Given the description of an element on the screen output the (x, y) to click on. 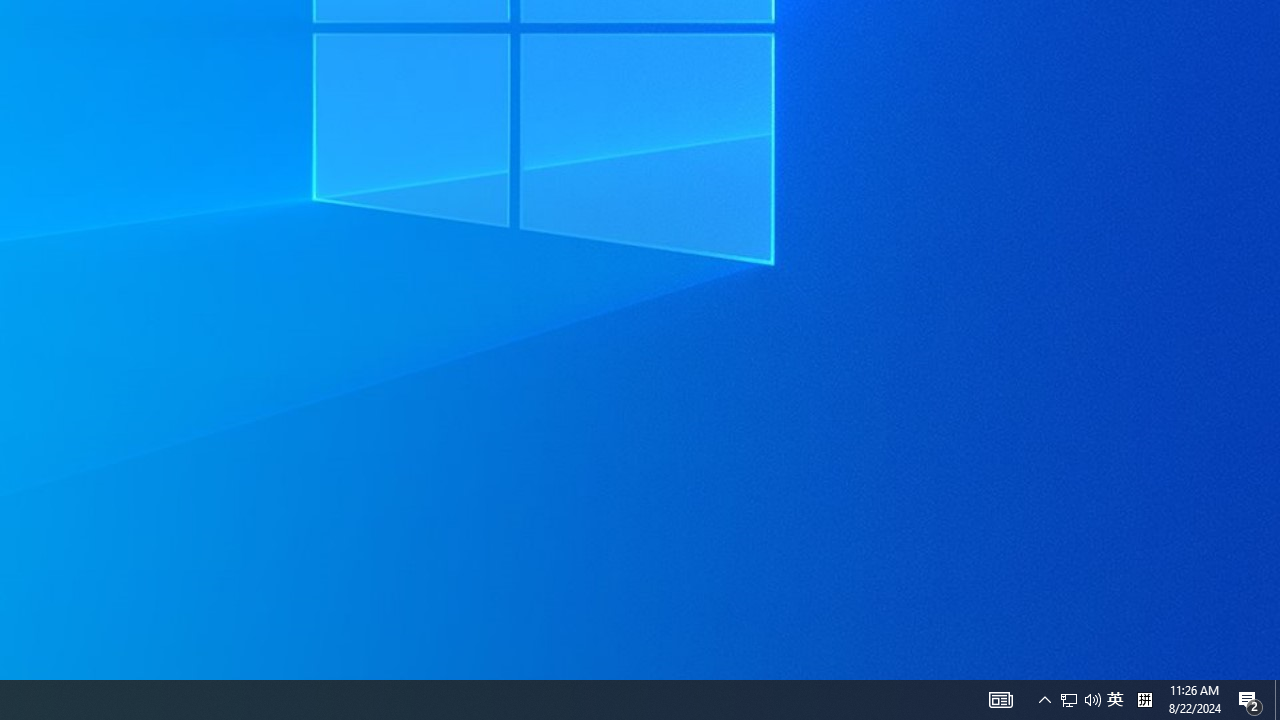
Q2790: 100% (1092, 699)
Show desktop (1115, 699)
AutomationID: 4105 (1277, 699)
Tray Input Indicator - Chinese (Simplified, China) (1000, 699)
User Promoted Notification Area (1069, 699)
Notification Chevron (1144, 699)
Action Center, 2 new notifications (1080, 699)
